Given the description of an element on the screen output the (x, y) to click on. 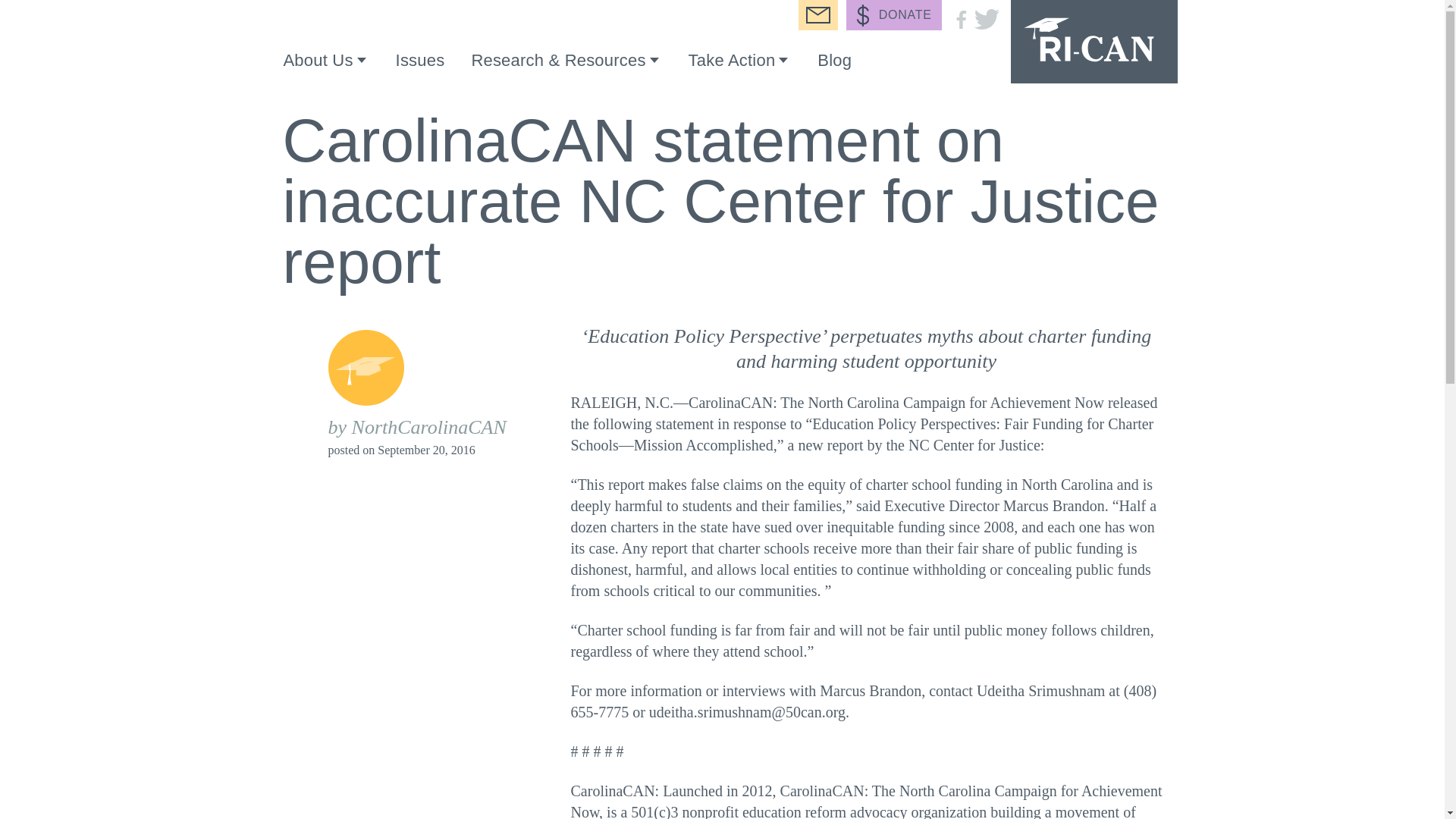
Take Action (739, 64)
NorthCarolinaCAN (1093, 41)
About Us (325, 64)
Issues (419, 62)
Blog (834, 62)
DONATE (893, 15)
